Given the description of an element on the screen output the (x, y) to click on. 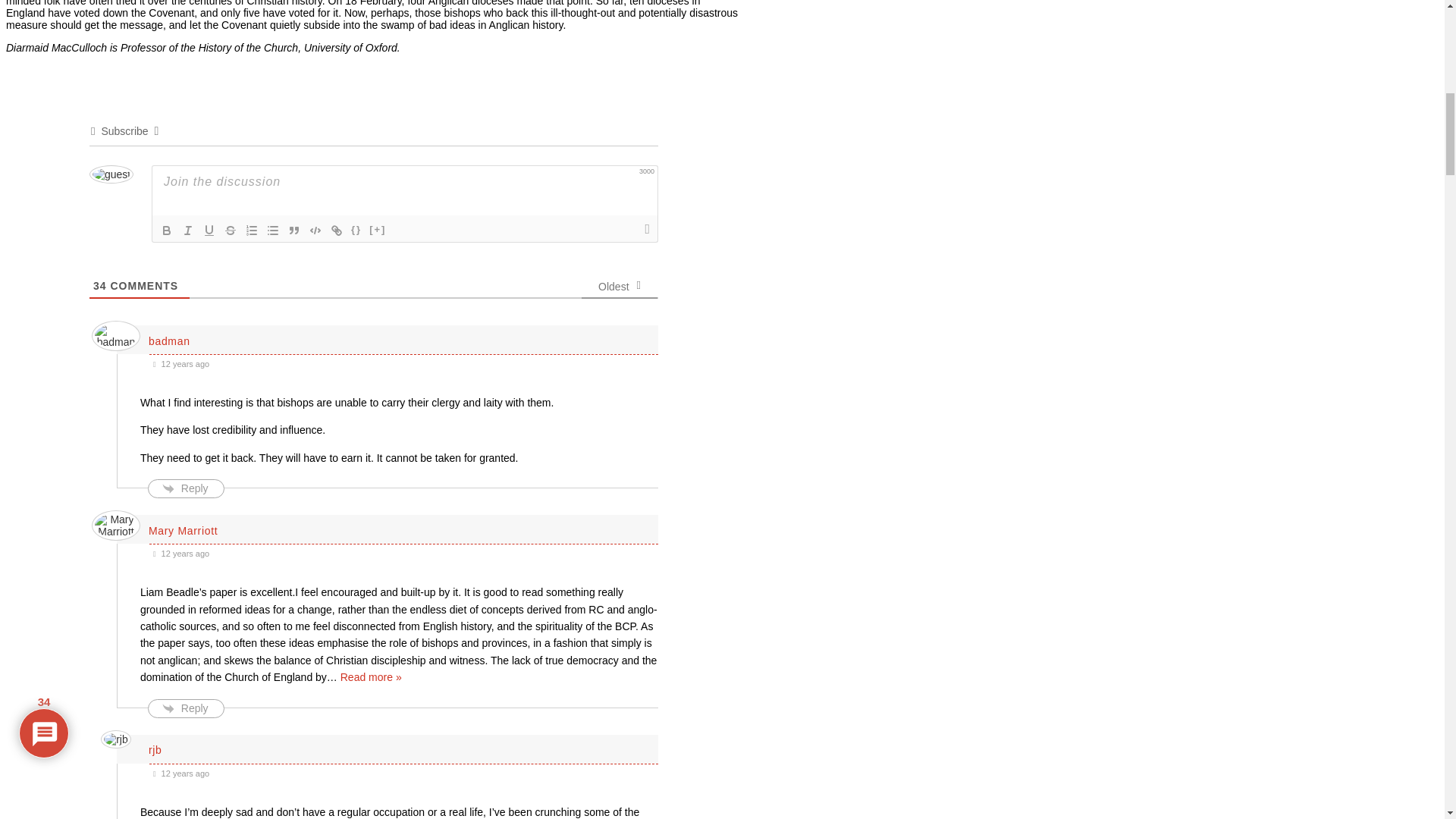
Link (336, 230)
ordered (251, 230)
bullet (272, 230)
Ordered List (251, 230)
Source Code (356, 230)
Bold (166, 230)
Code Block (315, 230)
Spoiler (377, 230)
Italic (187, 230)
Underline (208, 230)
Blockquote (293, 230)
Unordered List (272, 230)
Strike (230, 230)
